Given the description of an element on the screen output the (x, y) to click on. 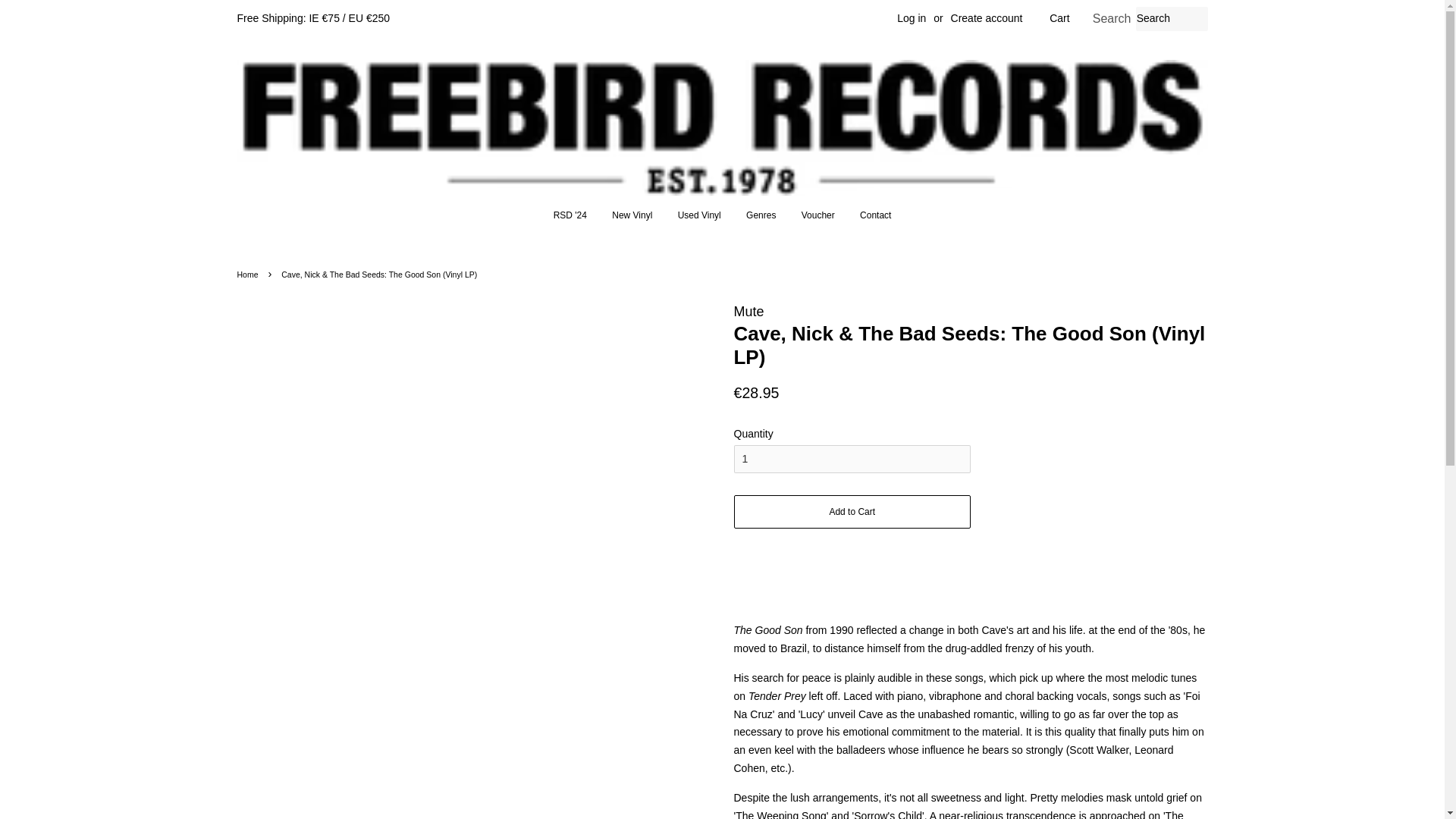
Create account (986, 18)
Log in (911, 18)
Search (1111, 18)
Back to the frontpage (248, 274)
1 (852, 459)
Cart (1058, 18)
RSD '24 (575, 215)
New Vinyl (631, 215)
